Given the description of an element on the screen output the (x, y) to click on. 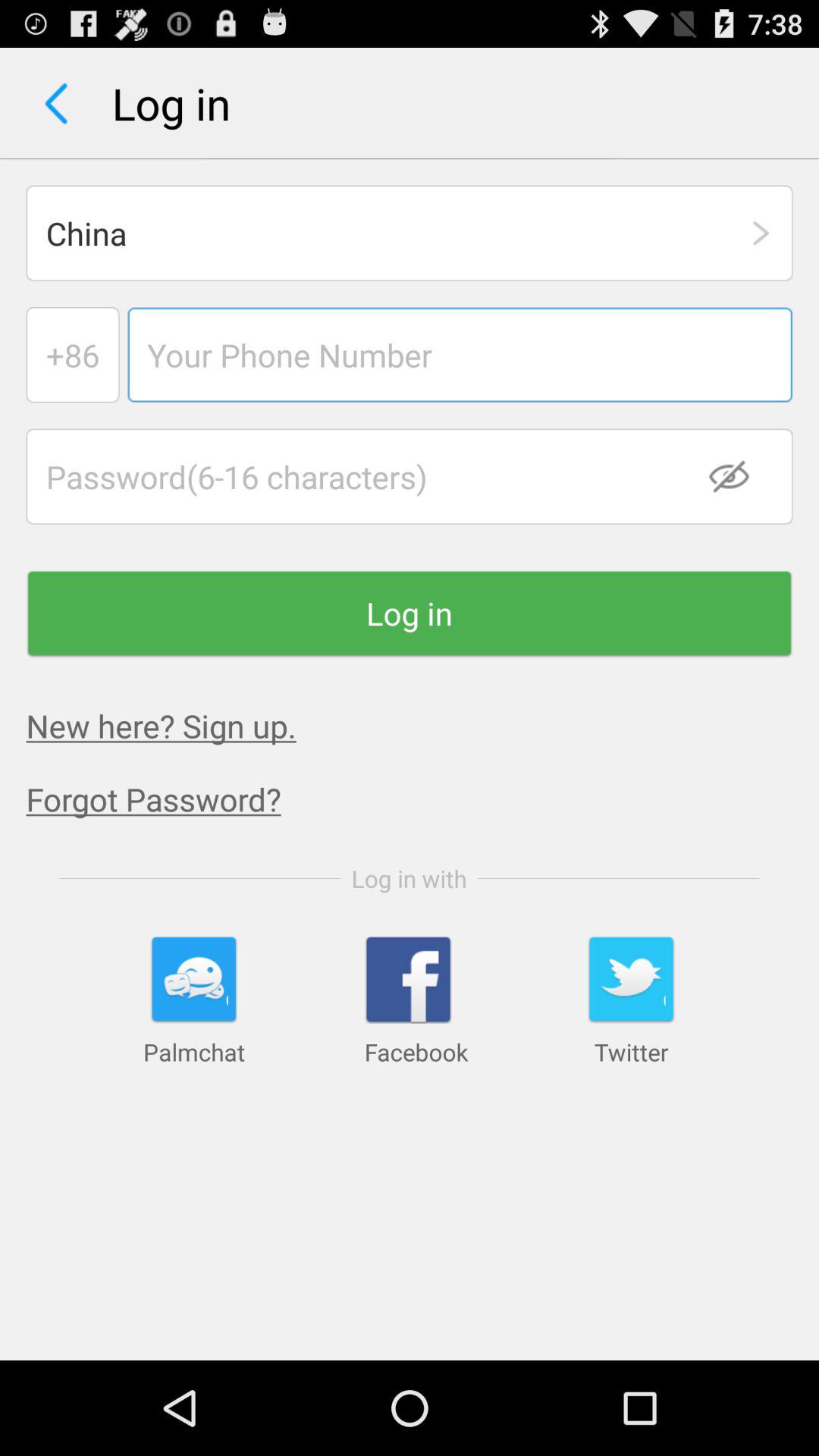
choose the item above china icon (56, 103)
